Given the description of an element on the screen output the (x, y) to click on. 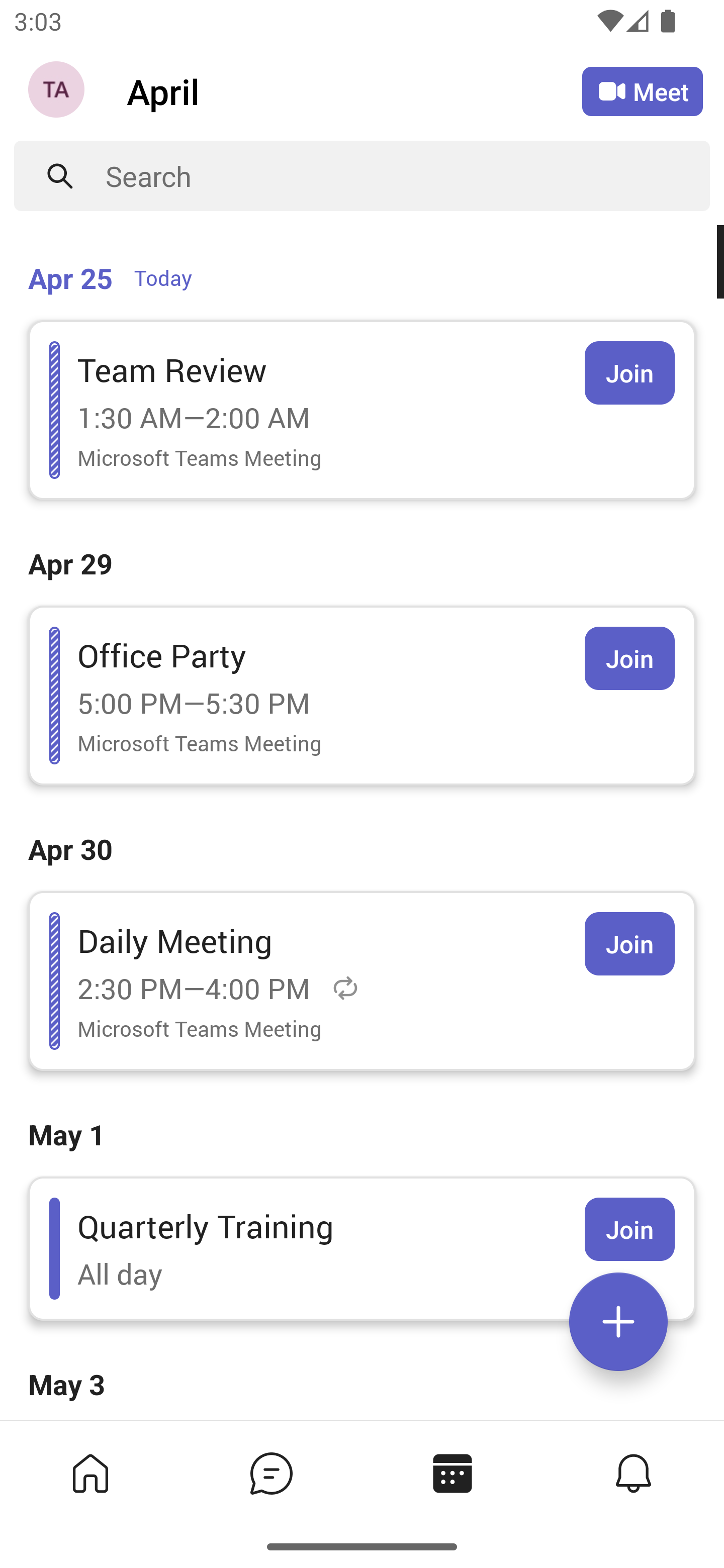
Navigation (58, 91)
Meet Meet now or join with an ID (642, 91)
April April Calendar Agenda View (354, 90)
Search (407, 176)
Join (629, 372)
Join (629, 658)
Join (629, 943)
Join (629, 1228)
Expand meetings menu (618, 1321)
Home tab,1 of 4, not selected (90, 1472)
Chat tab,2 of 4, not selected (271, 1472)
Calendar tab, 3 of 4 (452, 1472)
Activity tab,4 of 4, not selected (633, 1472)
